Given the description of an element on the screen output the (x, y) to click on. 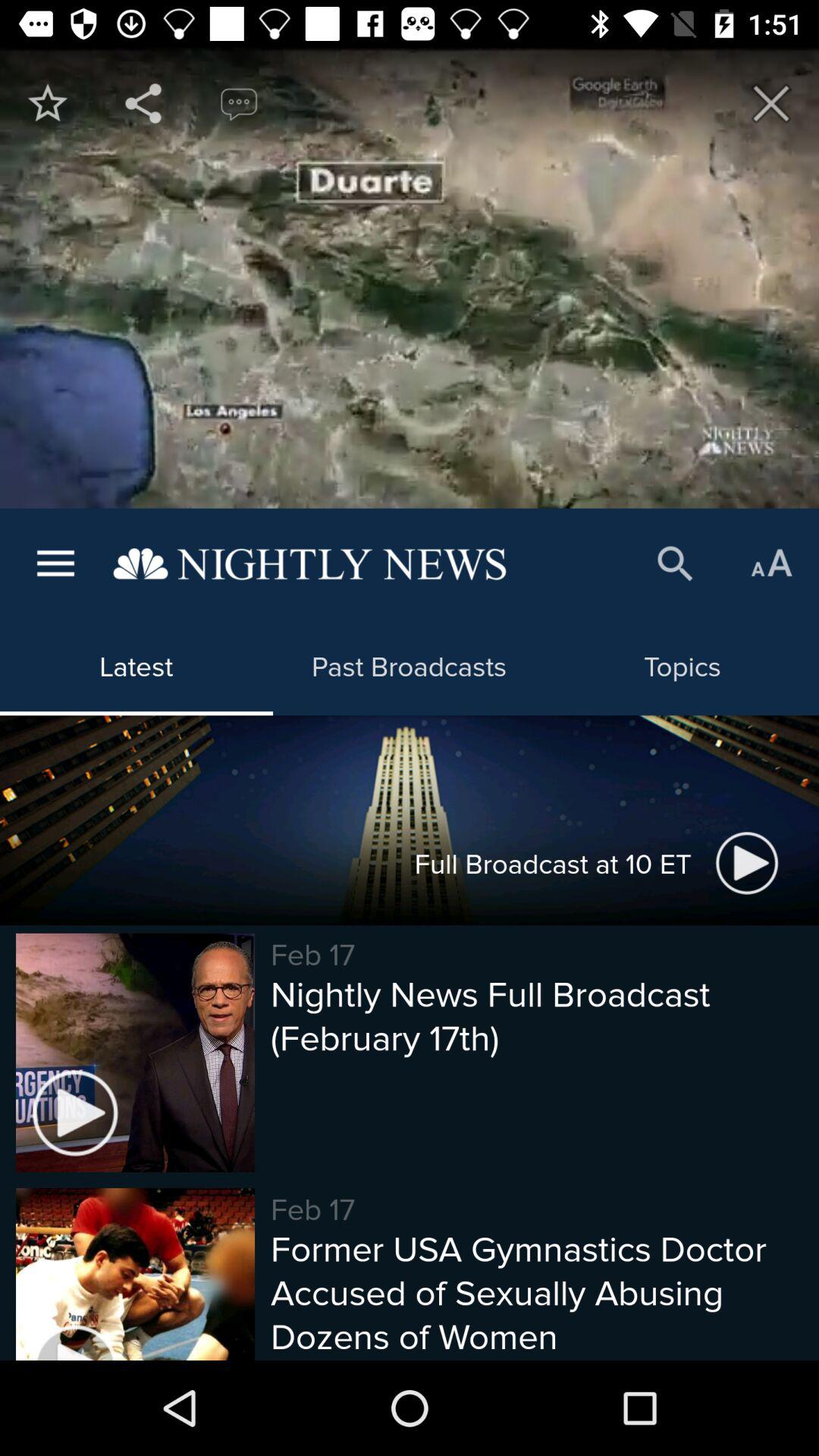
mark as favourite (47, 103)
